Given the description of an element on the screen output the (x, y) to click on. 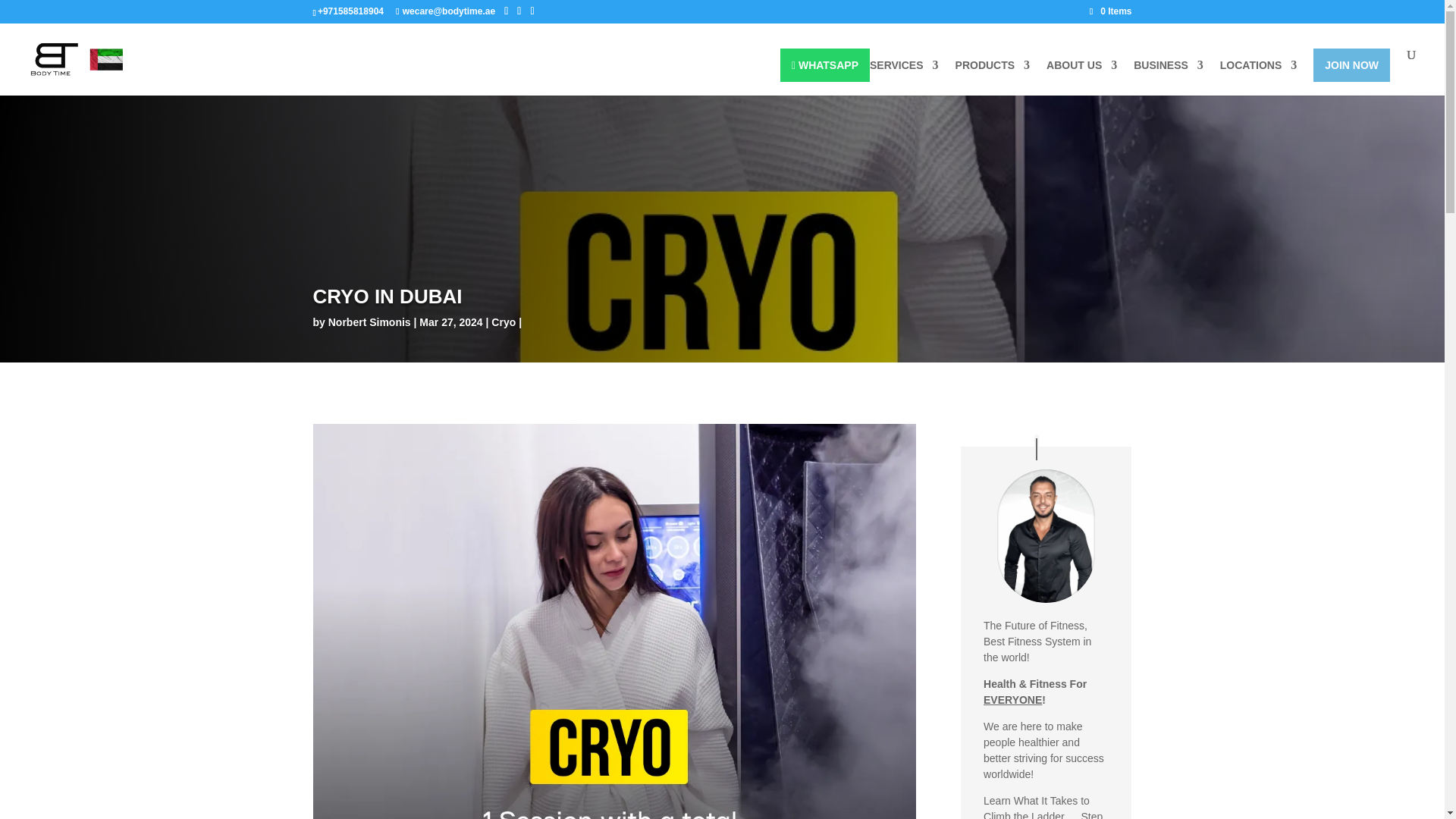
Posts by Norbert Simonis (369, 322)
ABOUT US (1081, 77)
SERVICES (904, 77)
PRODUCTS (992, 77)
0 Items (1110, 10)
